Given the description of an element on the screen output the (x, y) to click on. 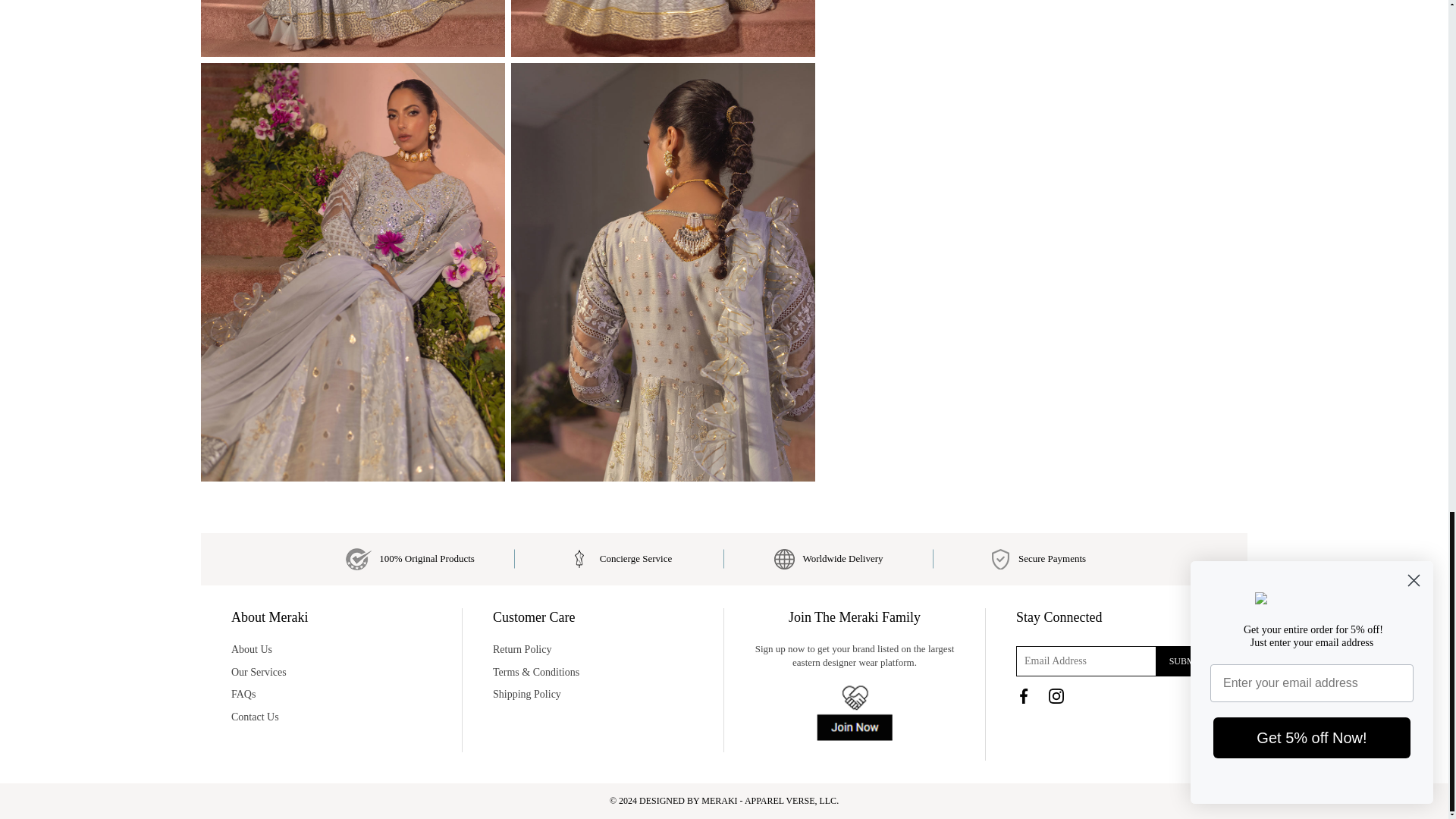
Shipping Policy (593, 694)
Contact Us (330, 717)
Return policy (593, 649)
FAQs (330, 694)
Our Services (330, 672)
Submit (1186, 661)
About us (330, 649)
